Given the description of an element on the screen output the (x, y) to click on. 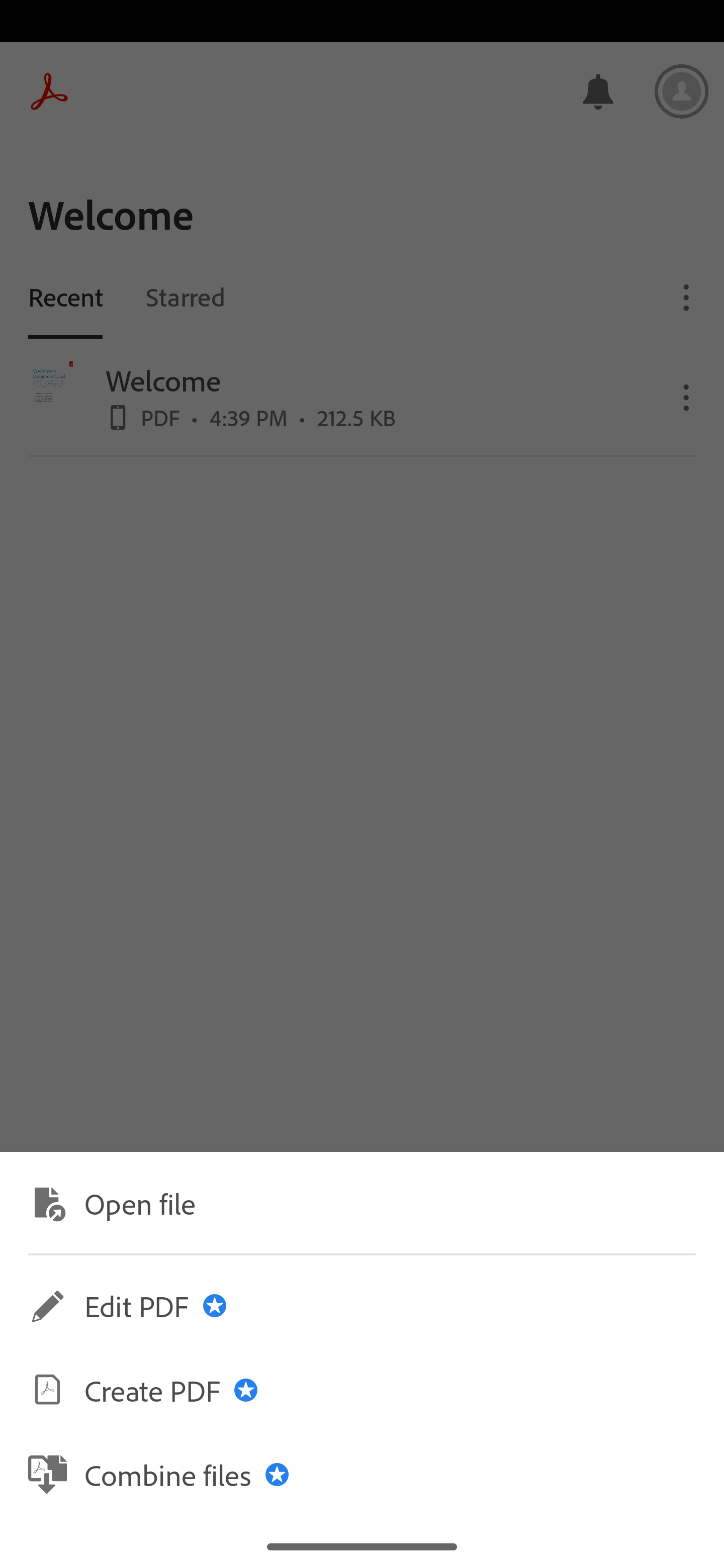
Open file (362, 1202)
Edit PDF Premium (362, 1305)
Create PDF Premium (362, 1389)
Combine files Premium (362, 1473)
